Given the description of an element on the screen output the (x, y) to click on. 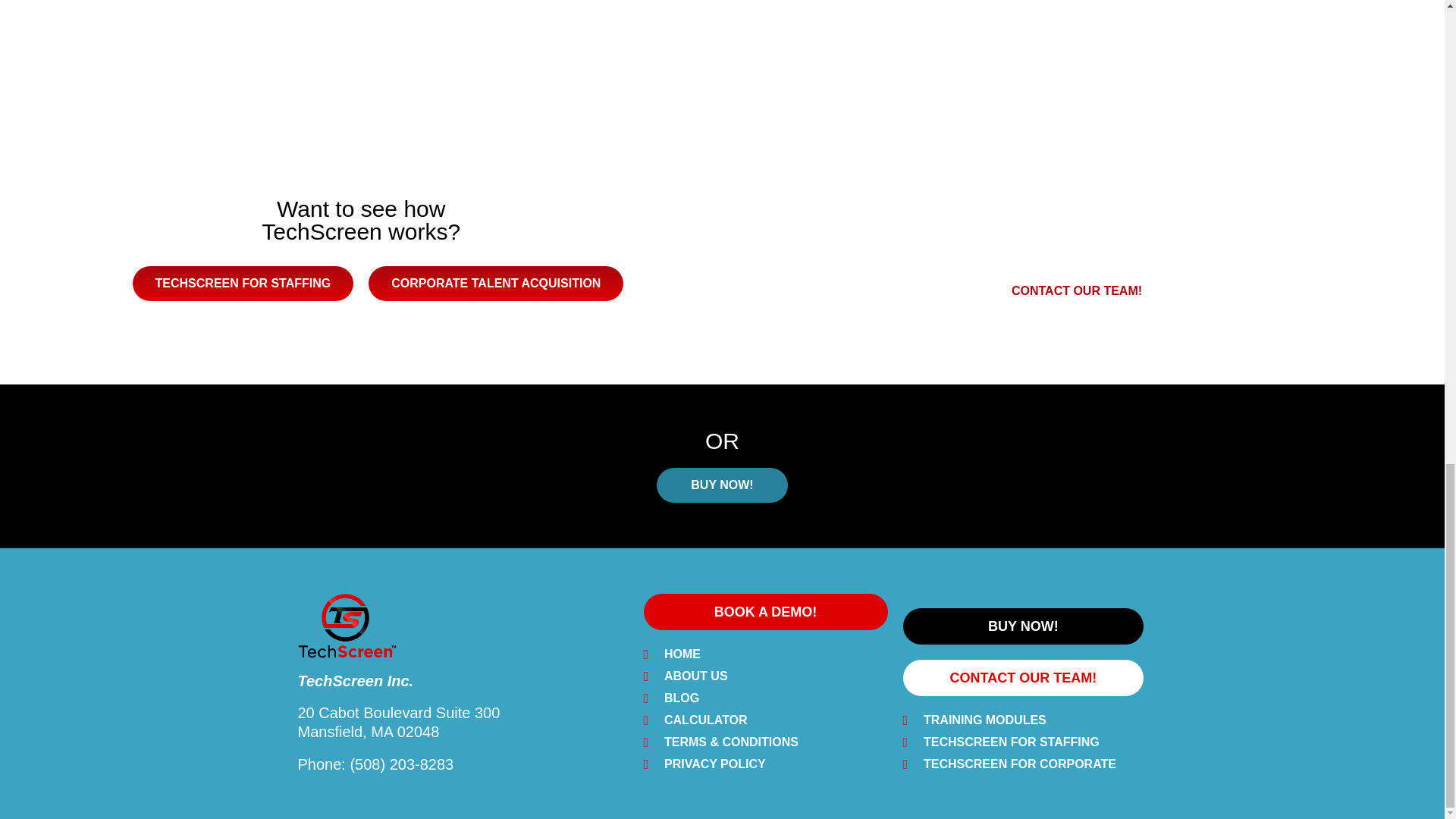
PRIVACY POLICY (764, 764)
CALCULATOR (764, 720)
TECHSCREEN FOR CORPORATE (1022, 764)
BOOK A DEMO! (764, 611)
BLOG (764, 698)
TECHSCREEN FOR STAFFING (1022, 742)
BUY NOW! (1022, 626)
HOME (764, 654)
CORPORATE TALENT ACQUISITION (495, 283)
TECHSCREEN FOR STAFFING (242, 283)
ABOUT US (764, 676)
TRAINING MODULES (1022, 720)
CONTACT OUR TEAM! (1076, 290)
CONTACT OUR TEAM! (1022, 678)
BUY NOW! (721, 484)
